Given the description of an element on the screen output the (x, y) to click on. 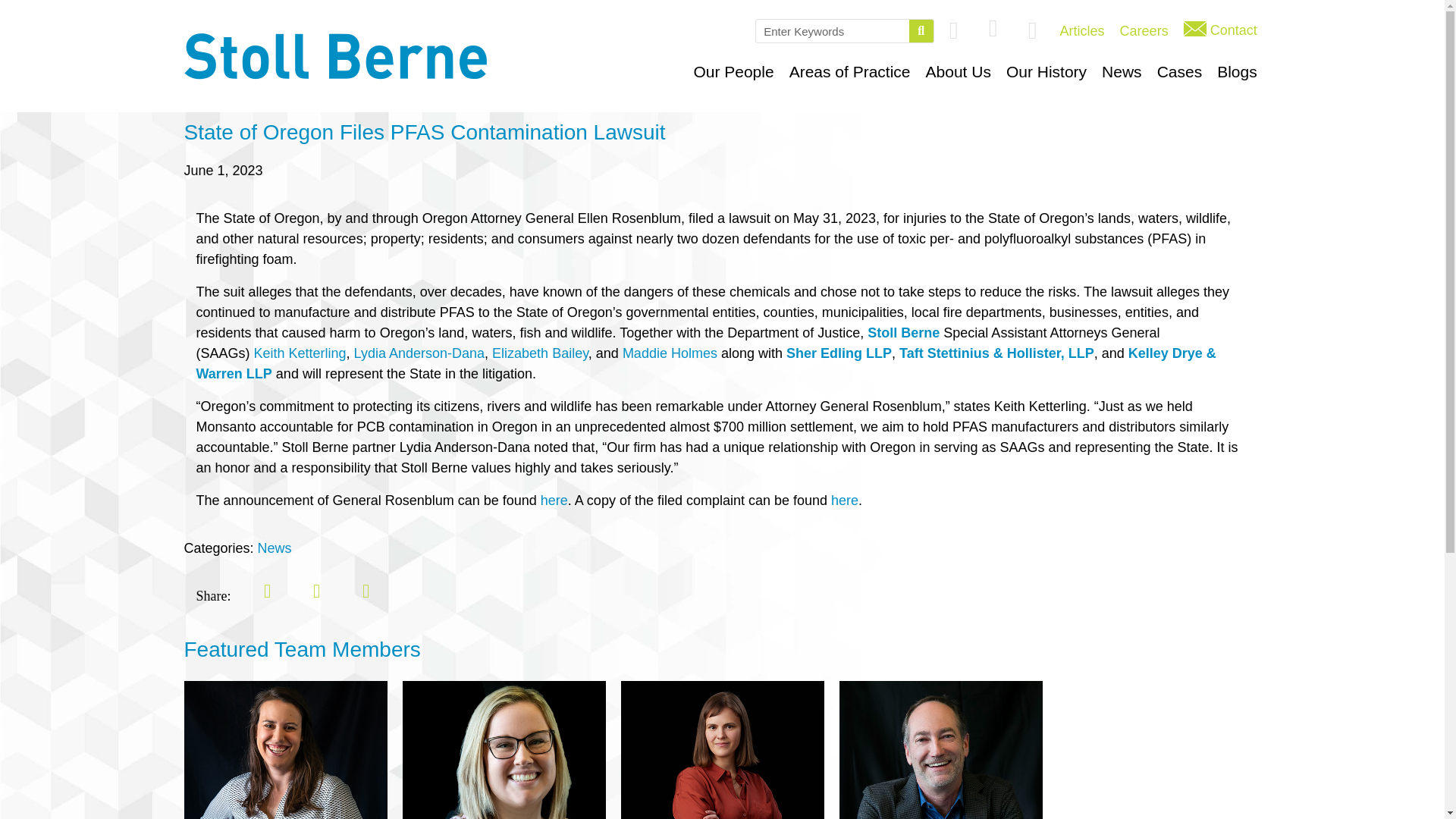
Our People (732, 71)
Contact (1220, 30)
Areas of Practice (849, 71)
Careers (1144, 31)
Articles (1082, 31)
